Given the description of an element on the screen output the (x, y) to click on. 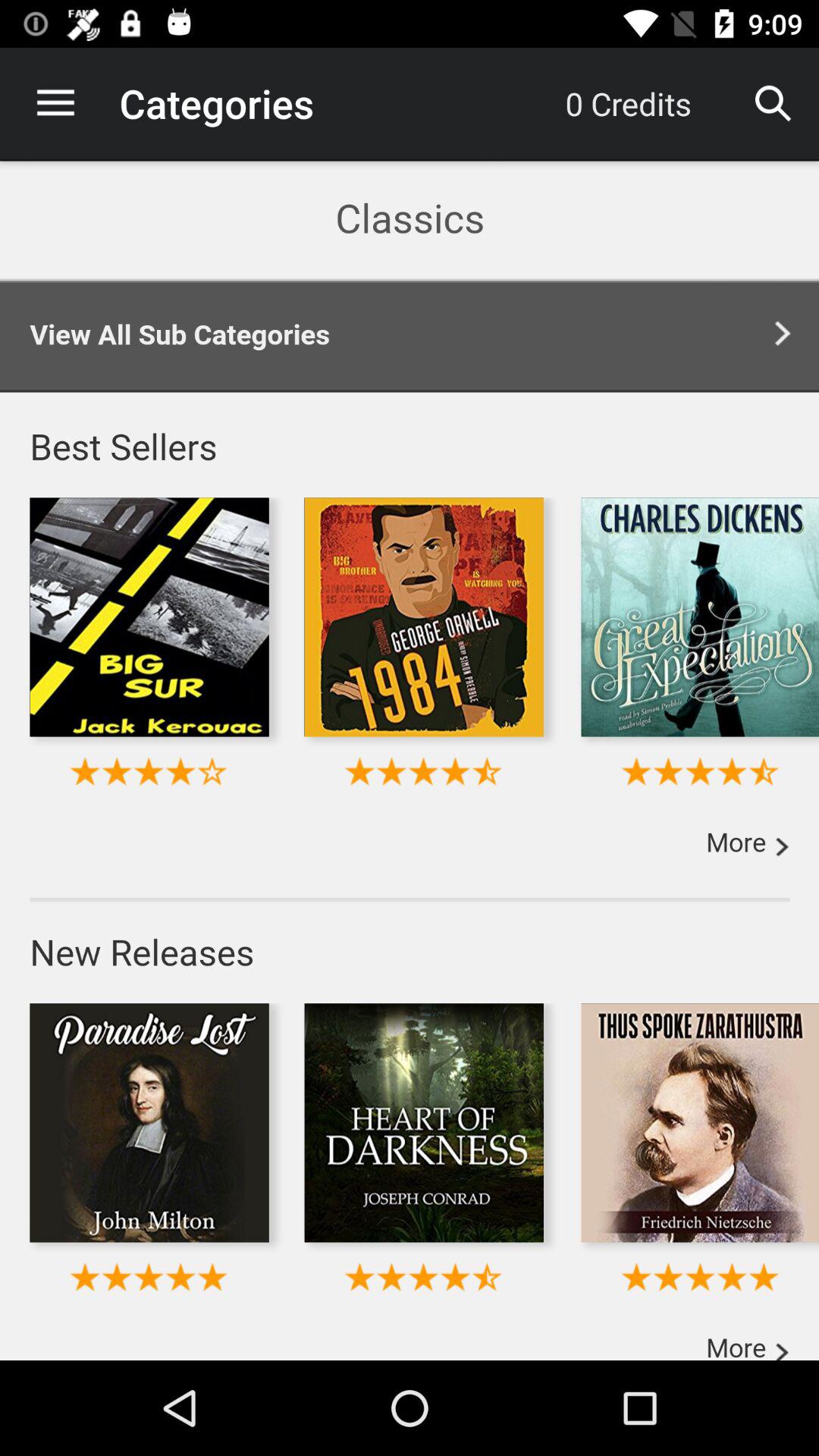
advertisement page (409, 759)
